Given the description of an element on the screen output the (x, y) to click on. 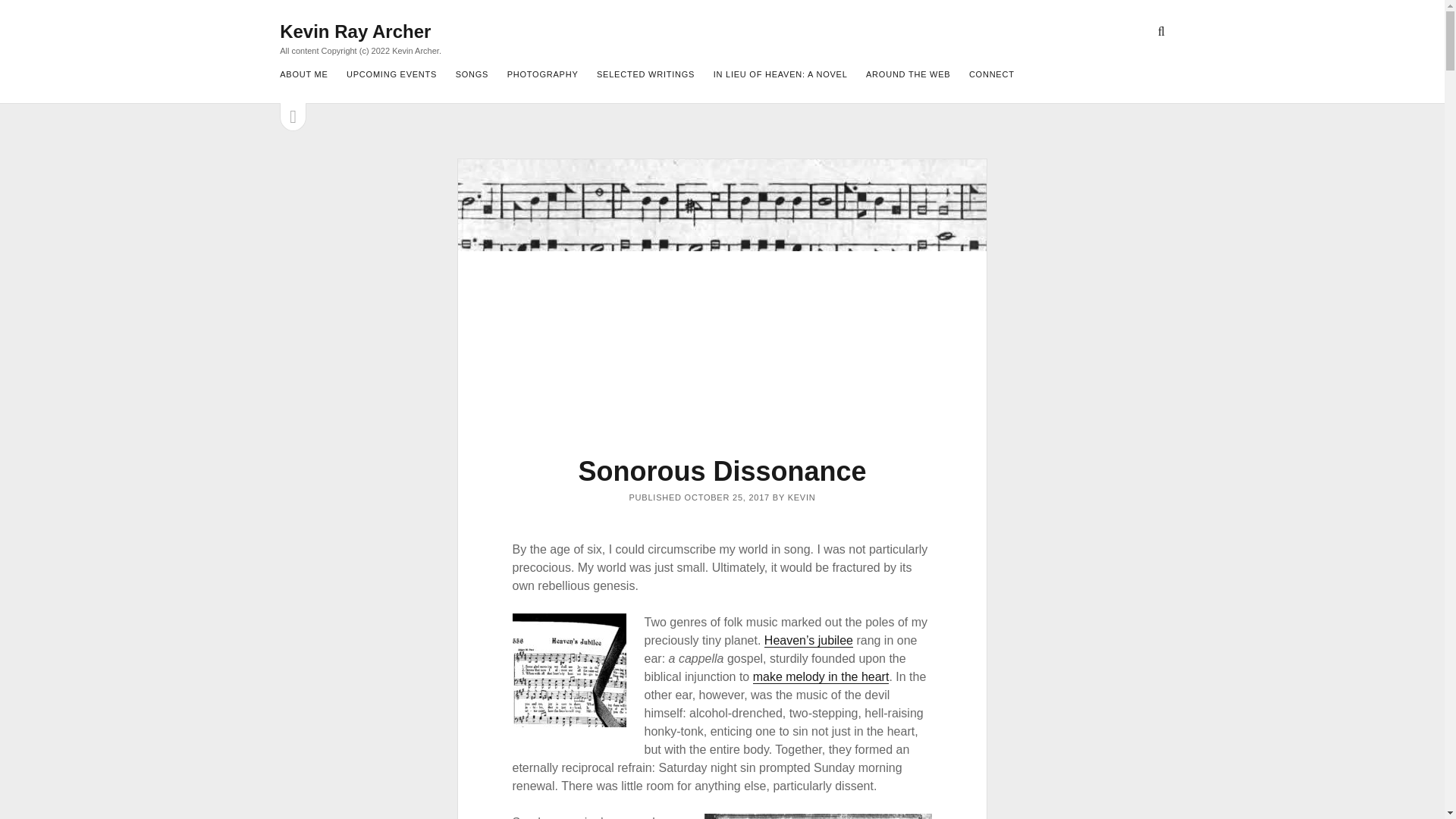
make melody in the heart (820, 676)
SONGS (472, 74)
Kevin Ray Archer (354, 31)
AROUND THE WEB (908, 74)
PHOTOGRAPHY (542, 74)
IN LIEU OF HEAVEN: A NOVEL (780, 74)
CONNECT (991, 74)
SELECTED WRITINGS (645, 74)
ABOUT ME (303, 74)
UPCOMING EVENTS (391, 74)
